Given the description of an element on the screen output the (x, y) to click on. 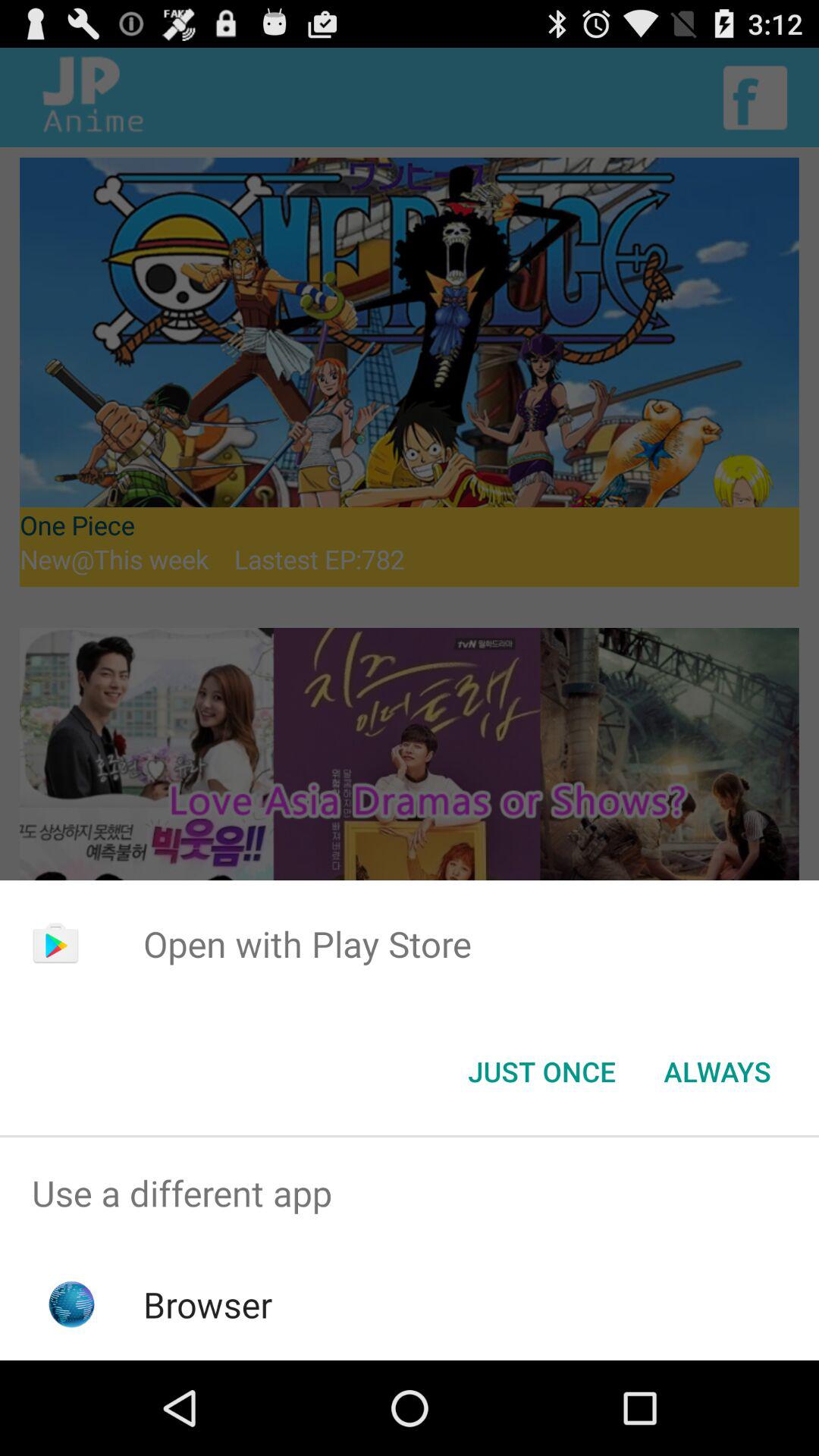
scroll to the just once (541, 1071)
